Given the description of an element on the screen output the (x, y) to click on. 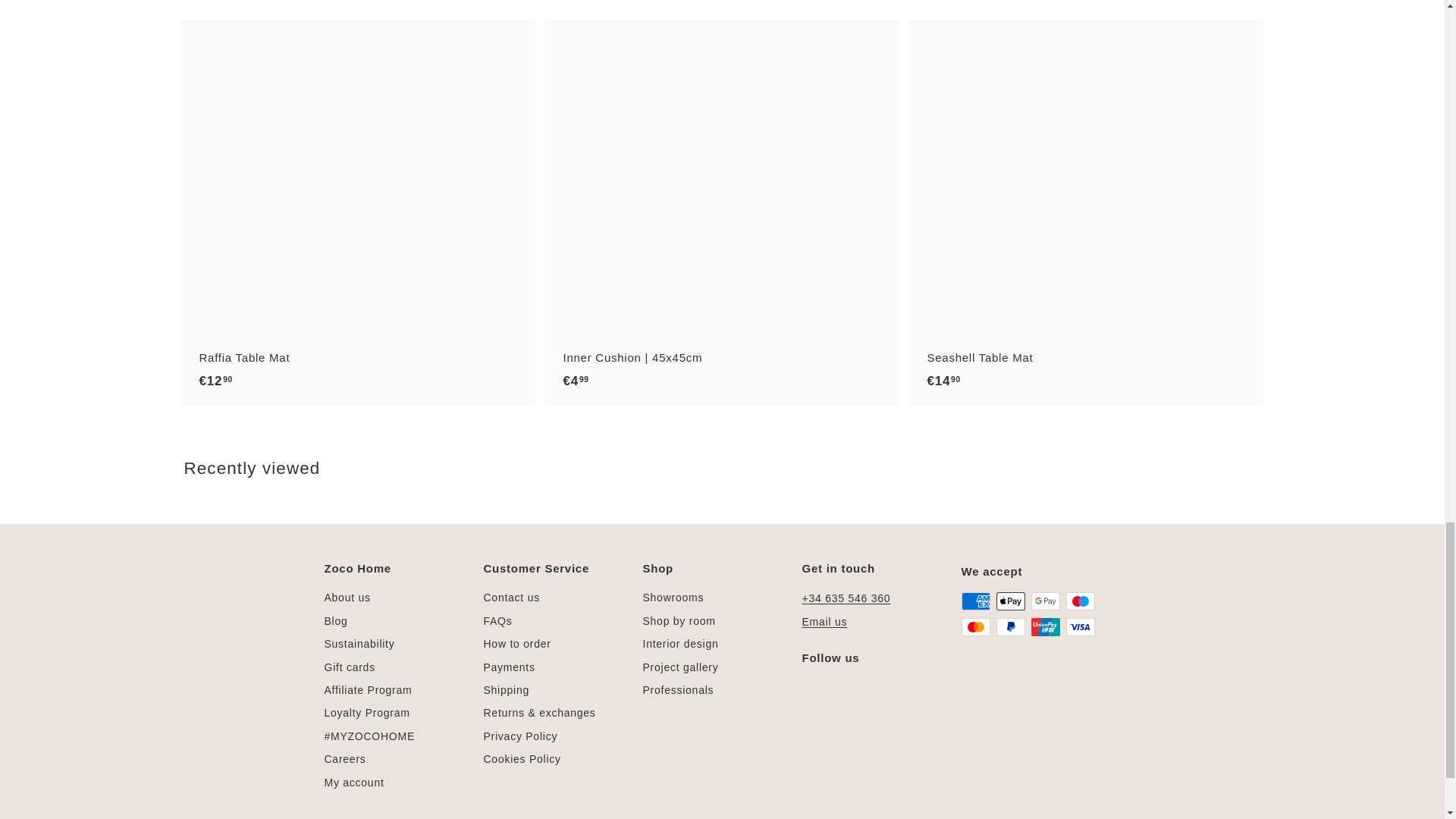
Apple Pay (1010, 601)
Maestro (1079, 601)
PayPal (1010, 627)
Union Pay (1044, 627)
Mastercard (975, 627)
Visa (1079, 627)
Google Pay (1044, 601)
American Express (975, 601)
